Given the description of an element on the screen output the (x, y) to click on. 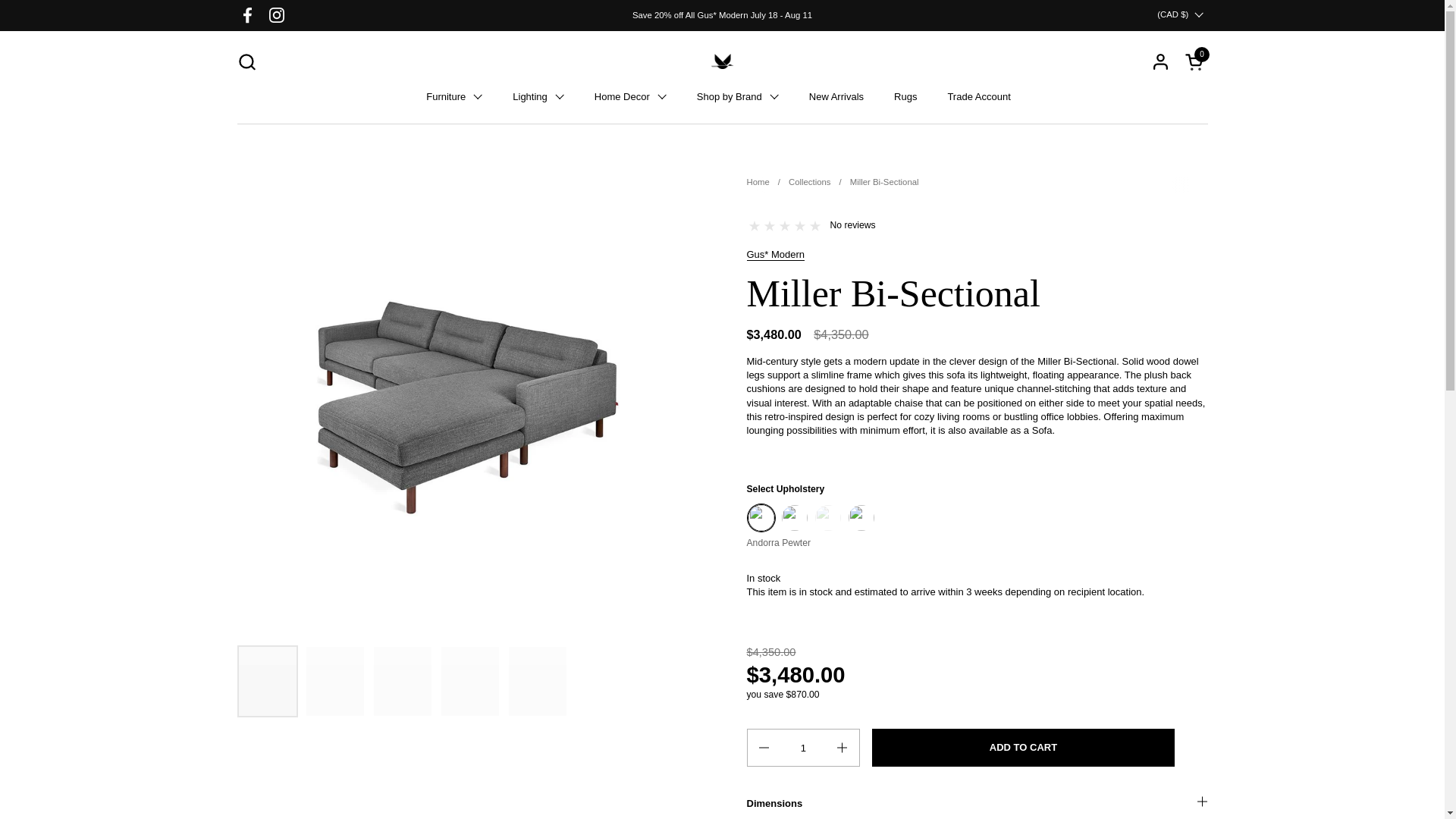
Furniture (453, 96)
Habitus (722, 61)
Facebook (247, 14)
Open cart (1196, 60)
Skip to content (1196, 60)
Instagram (245, 60)
